Given the description of an element on the screen output the (x, y) to click on. 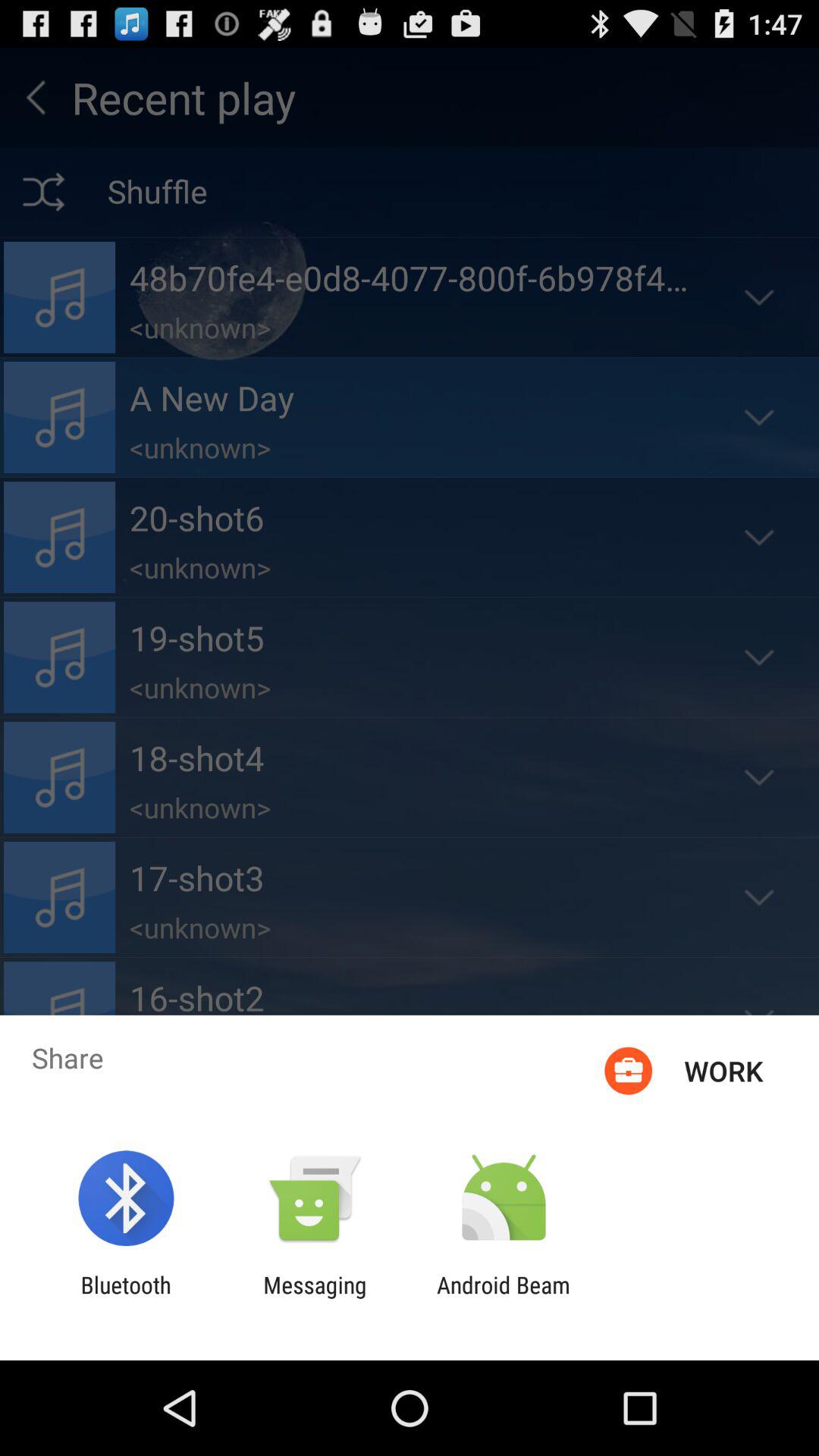
select the messaging app (314, 1298)
